Given the description of an element on the screen output the (x, y) to click on. 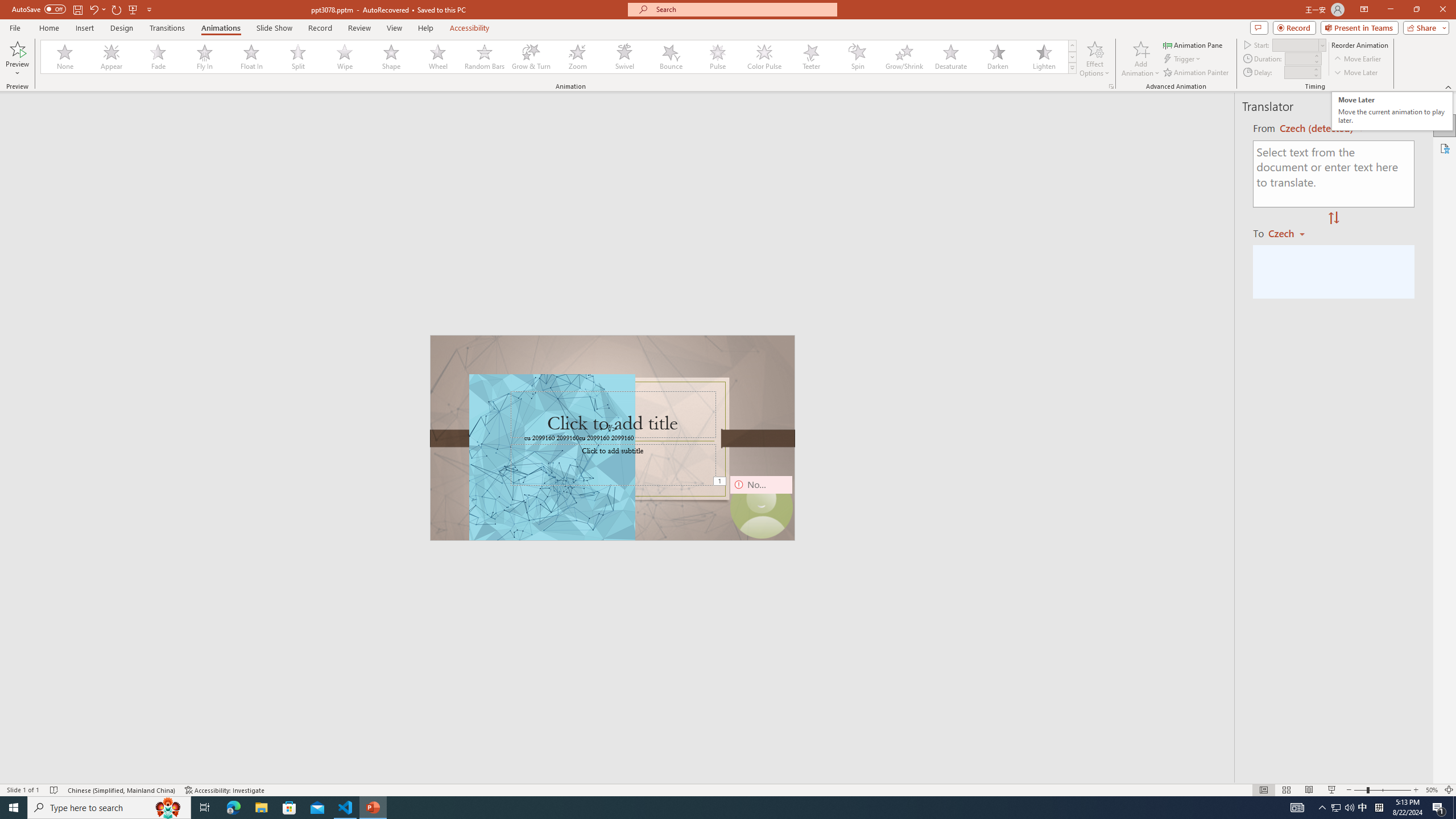
AutomationID: AnimationGallery (558, 56)
None (65, 56)
Teeter (810, 56)
Grow/Shrink (903, 56)
Less (1315, 75)
Bounce (670, 56)
Float In (251, 56)
